Given the description of an element on the screen output the (x, y) to click on. 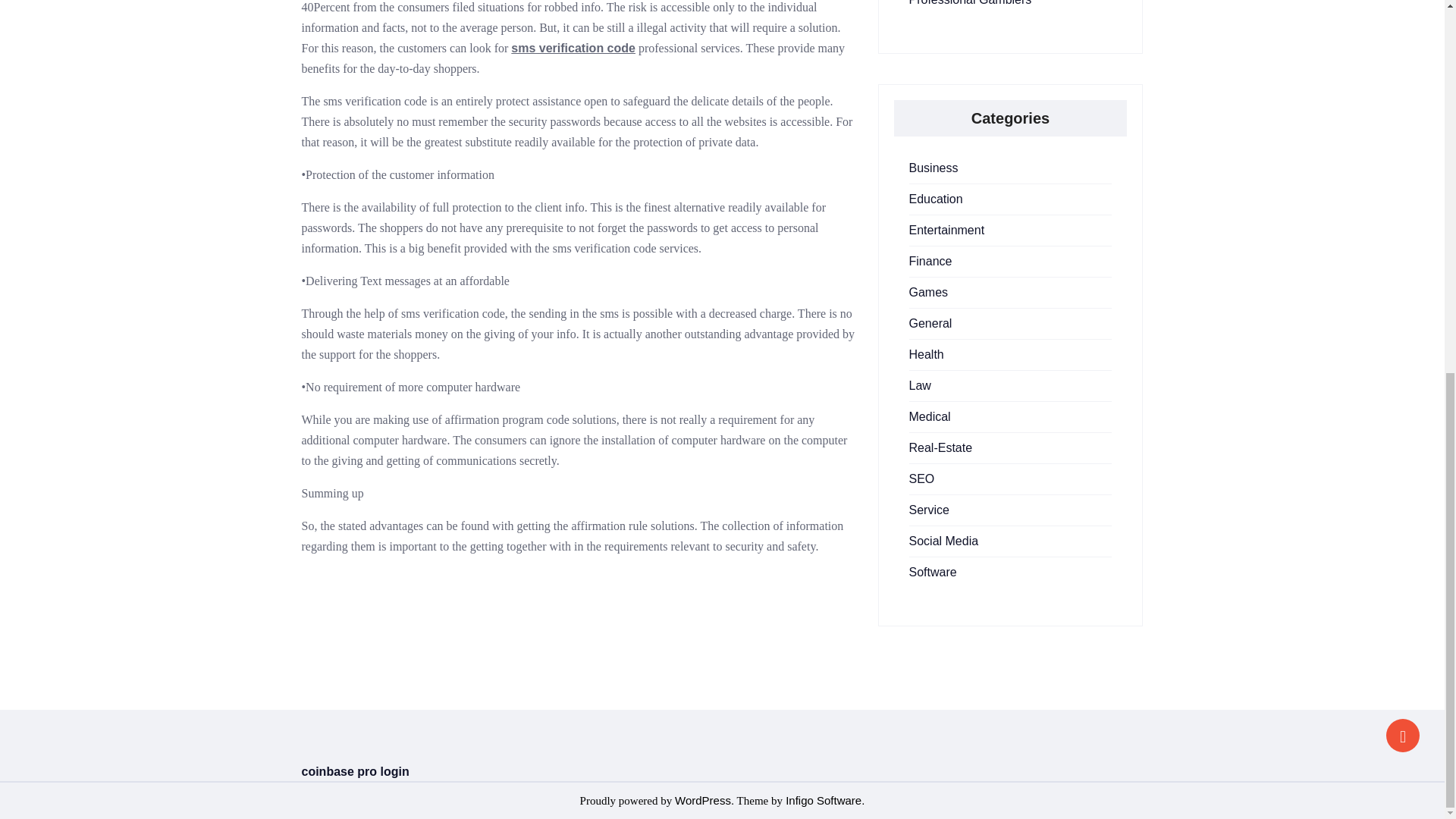
coinbase pro login (355, 771)
Service (928, 509)
Infigo Software. (823, 799)
Games (927, 291)
Software (932, 571)
General (930, 323)
Medical (929, 416)
Business (933, 167)
Law (919, 385)
SEO (921, 478)
